Given the description of an element on the screen output the (x, y) to click on. 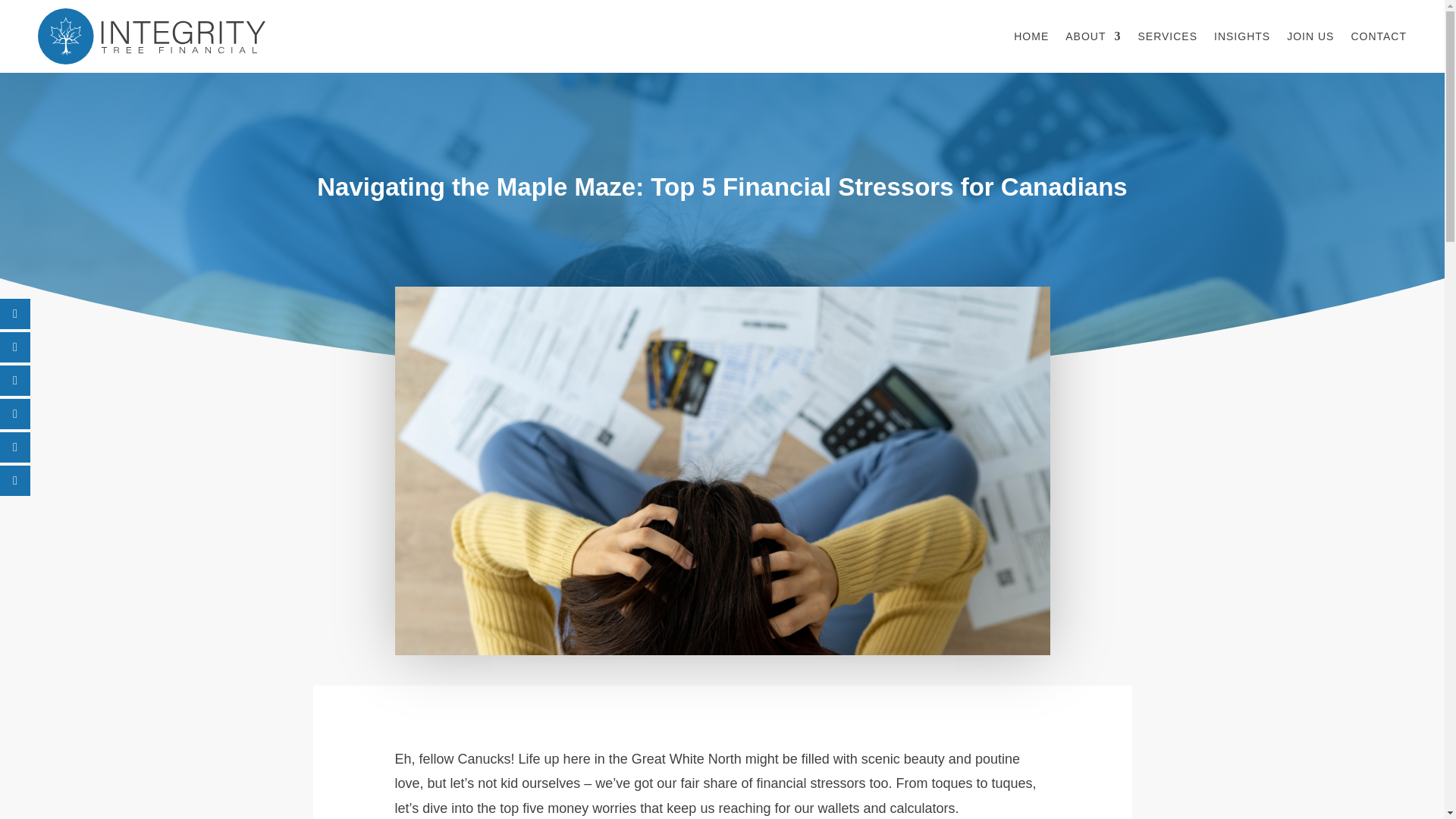
CONTACT (1378, 36)
SERVICES (1166, 36)
INSIGHTS (1241, 36)
ABOUT (1093, 36)
